Given the description of an element on the screen output the (x, y) to click on. 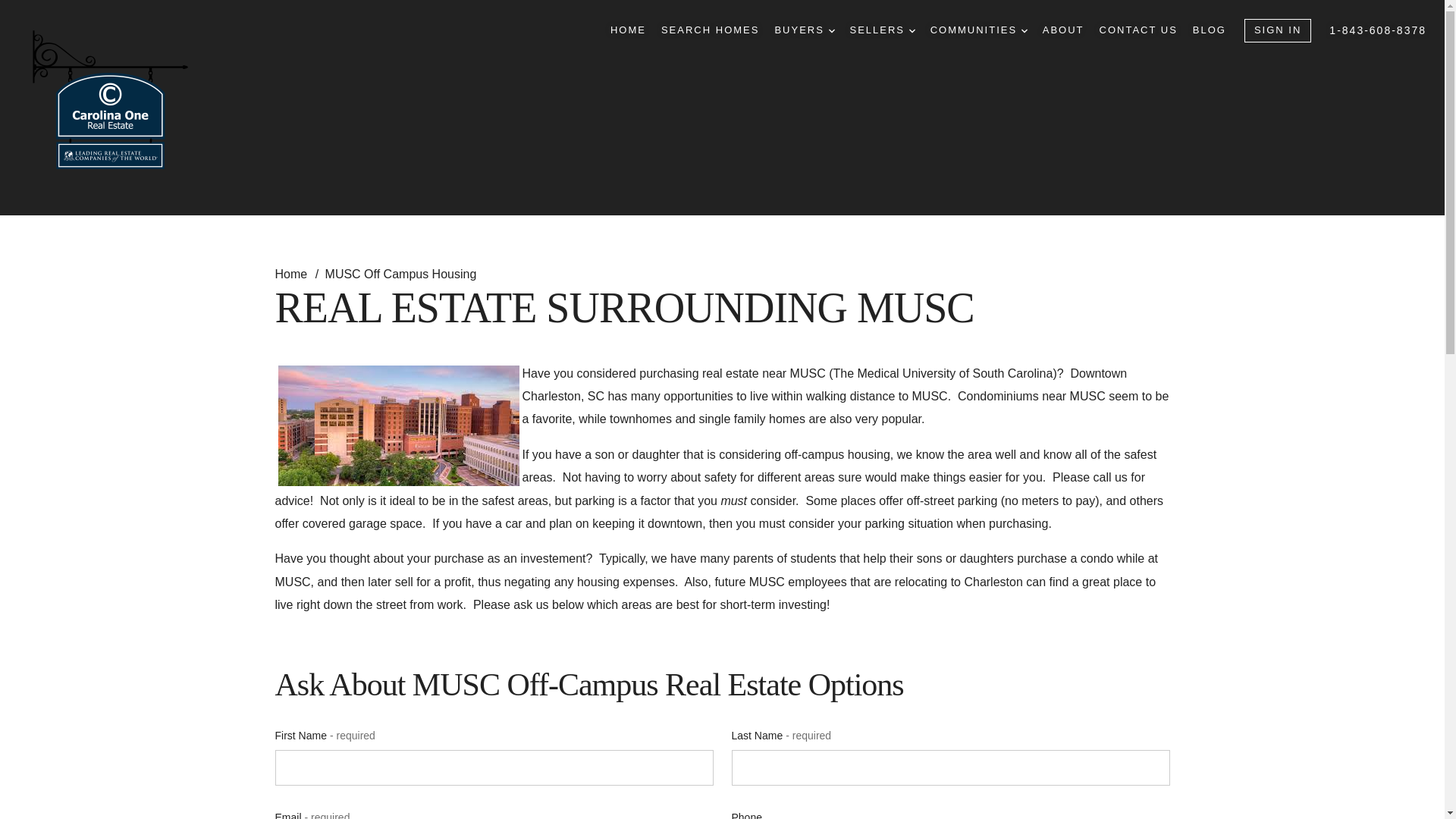
BUYERS DROPDOWN ARROW (804, 30)
COMMUNITIES DROPDOWN ARROW (978, 30)
SELLERS DROPDOWN ARROW (881, 30)
DROPDOWN ARROW (831, 30)
DROPDOWN ARROW (911, 30)
HOME (628, 30)
MUSC, Charleston residency (398, 425)
SEARCH HOMES (709, 30)
DROPDOWN ARROW (1024, 30)
